Given the description of an element on the screen output the (x, y) to click on. 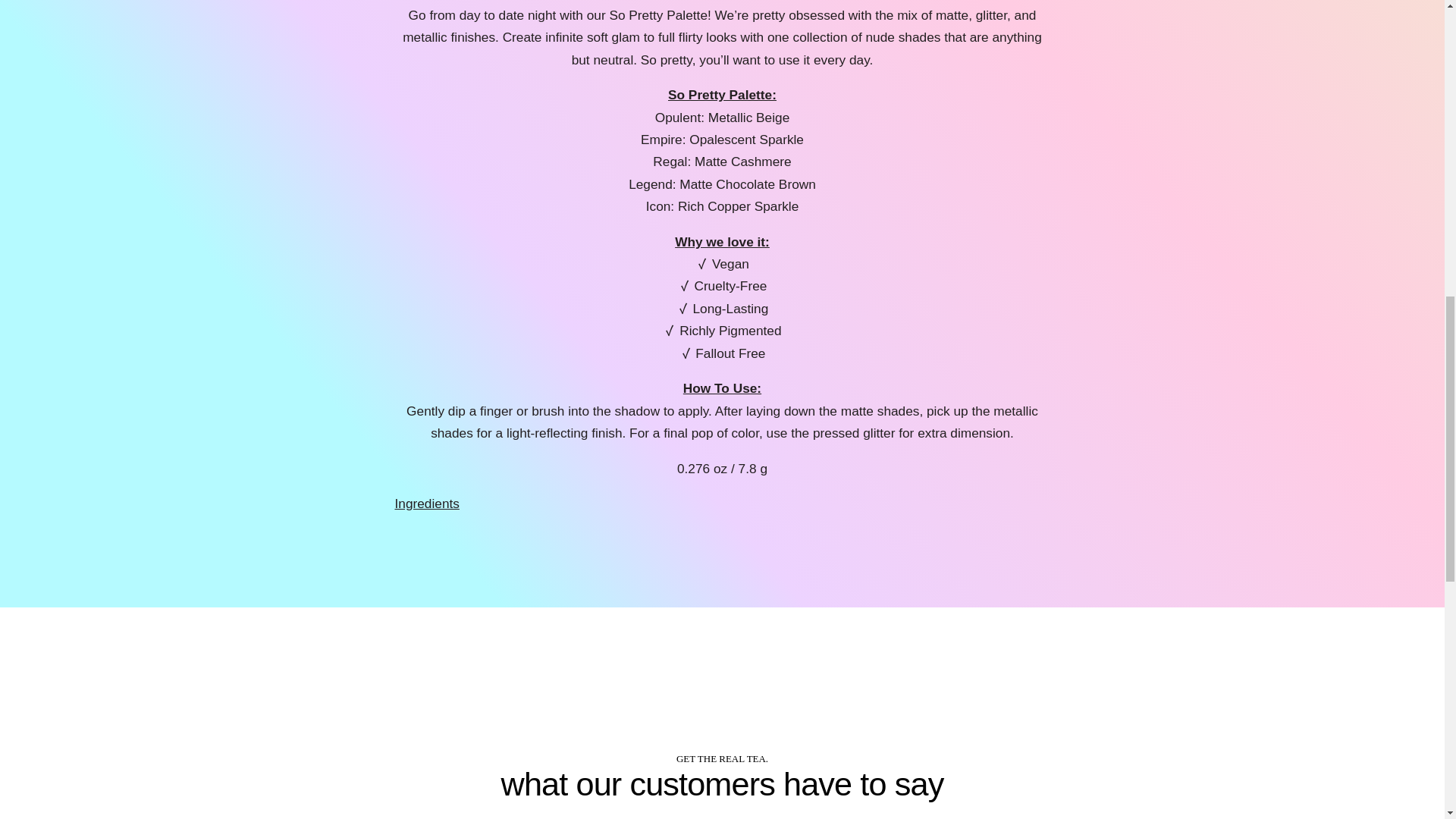
Ingredients (426, 503)
